Given the description of an element on the screen output the (x, y) to click on. 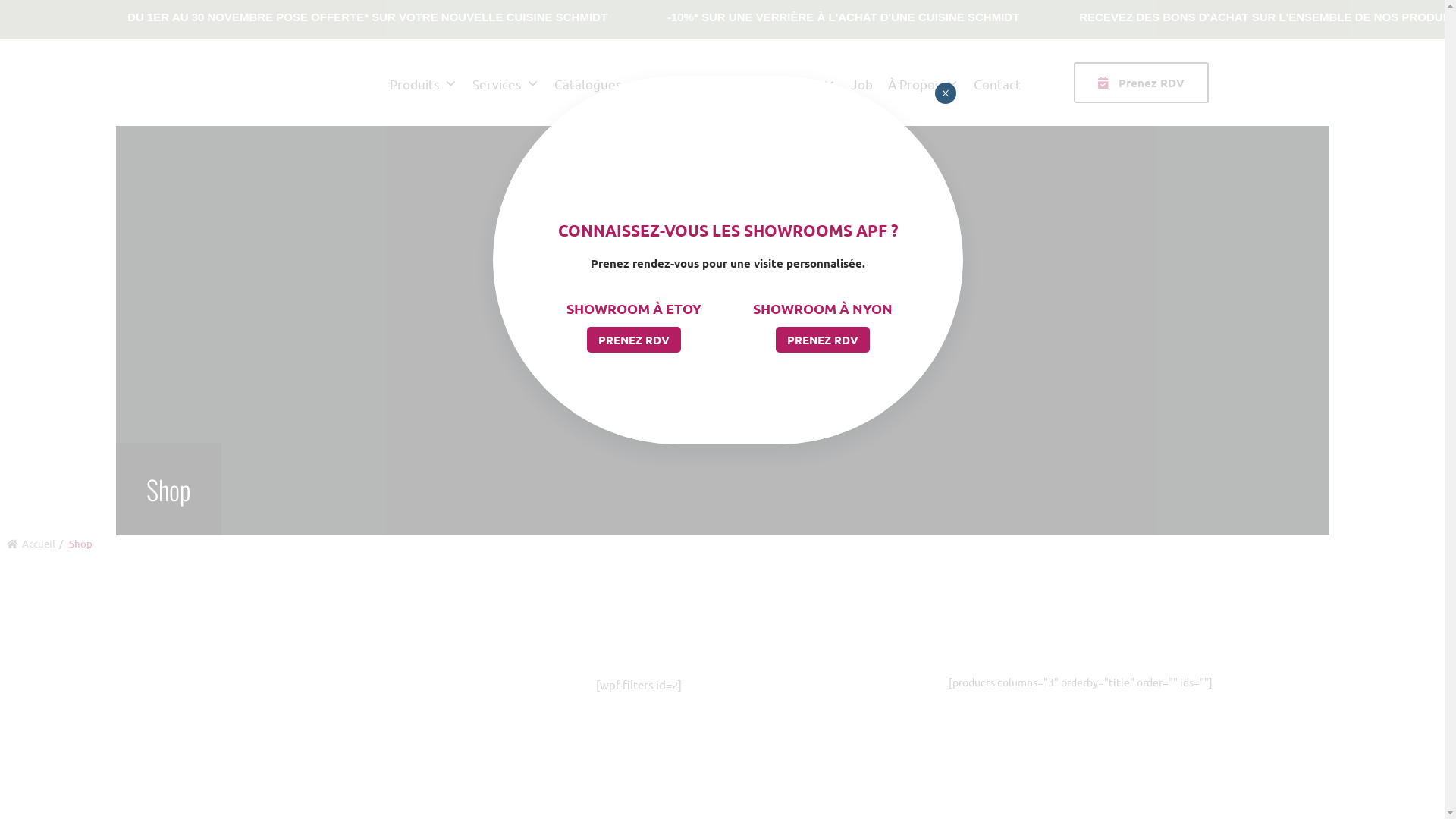
Prenez RDV Element type: text (1140, 82)
PRENEZ RDV Element type: text (822, 339)
Produits Element type: text (423, 81)
Contact Element type: text (997, 81)
Inspirez-vous Element type: text (787, 81)
Job Element type: text (861, 81)
Catalogues Element type: text (587, 81)
Showrooms Element type: text (680, 81)
Accueil Element type: text (37, 543)
Services Element type: text (505, 81)
PRENEZ RDV Element type: text (633, 339)
